Given the description of an element on the screen output the (x, y) to click on. 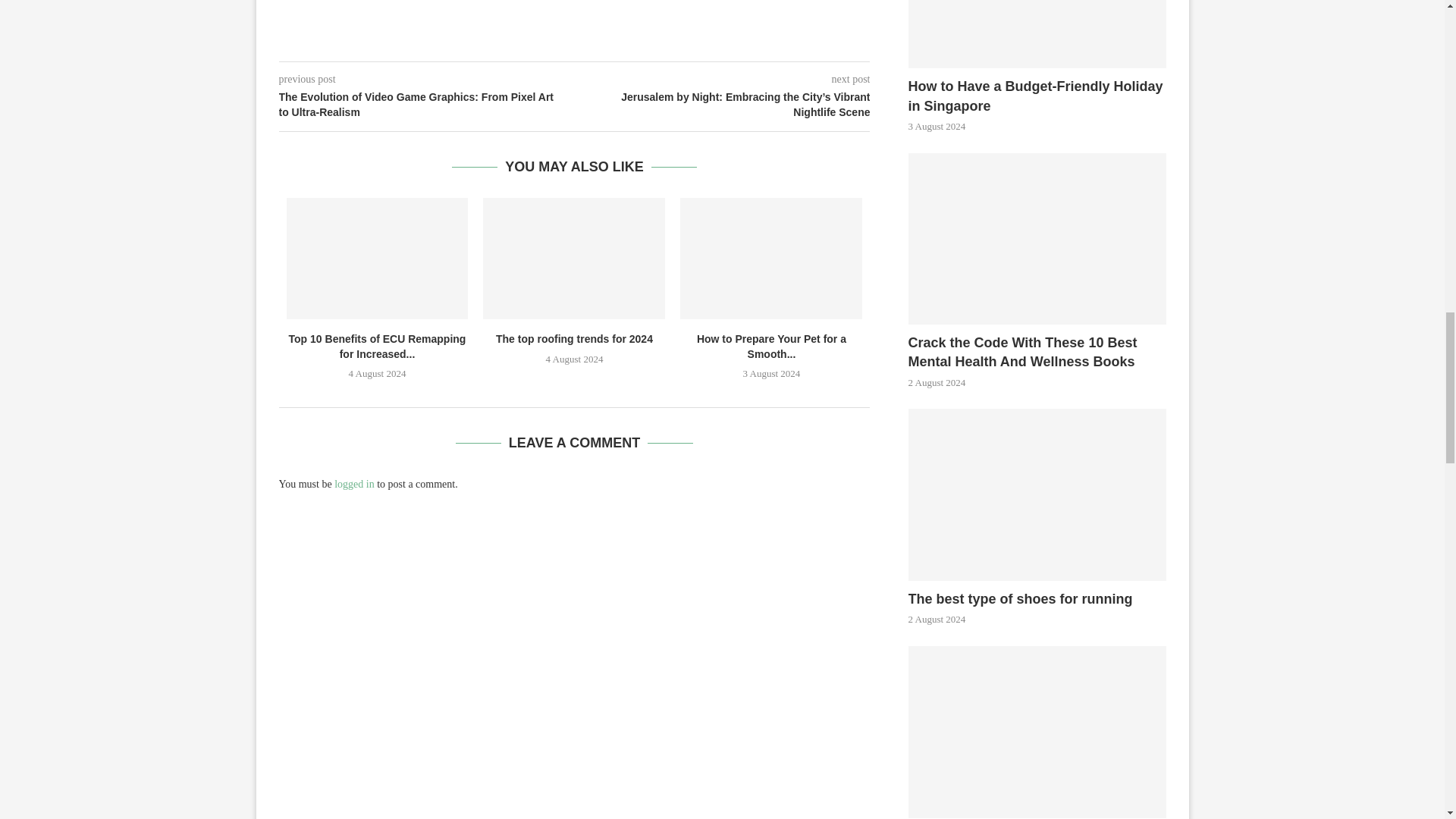
The top roofing trends for 2024 (574, 258)
Top 10 Benefits of ECU Remapping for Increased Performance (377, 258)
